Given the description of an element on the screen output the (x, y) to click on. 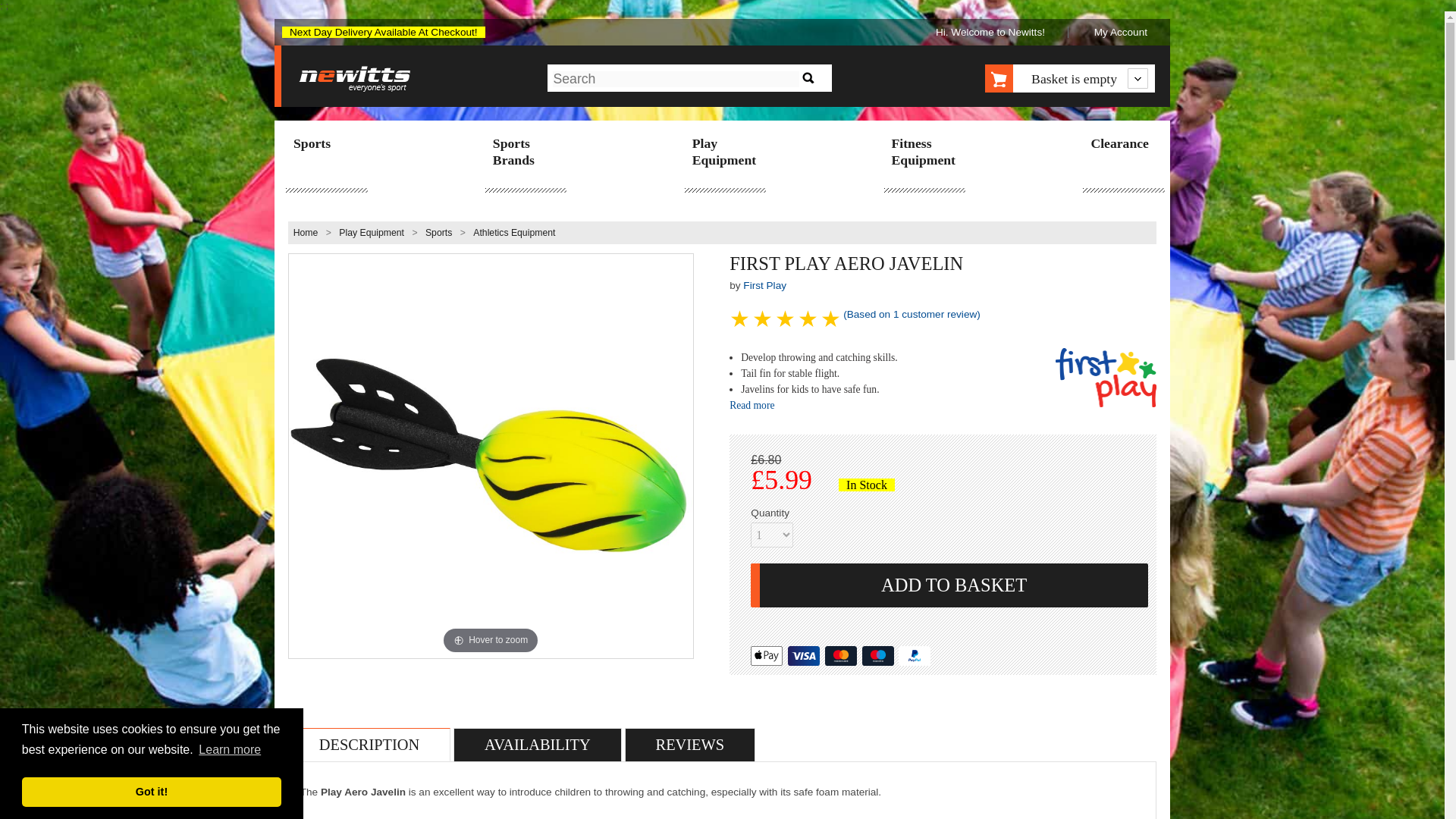
Sports (438, 232)
Athletics Equipment (513, 232)
Play Equipment (371, 232)
PayPal Message 1 (949, 636)
Sports (438, 232)
Sports Brands (524, 153)
AVAILABILITY (537, 744)
Newitts - everyone's sport (355, 79)
Read more (751, 405)
Add to basket (949, 585)
Search (807, 77)
Athletics Equipment (513, 232)
Sports (325, 145)
Add to basket (949, 585)
First Play (764, 285)
